Given the description of an element on the screen output the (x, y) to click on. 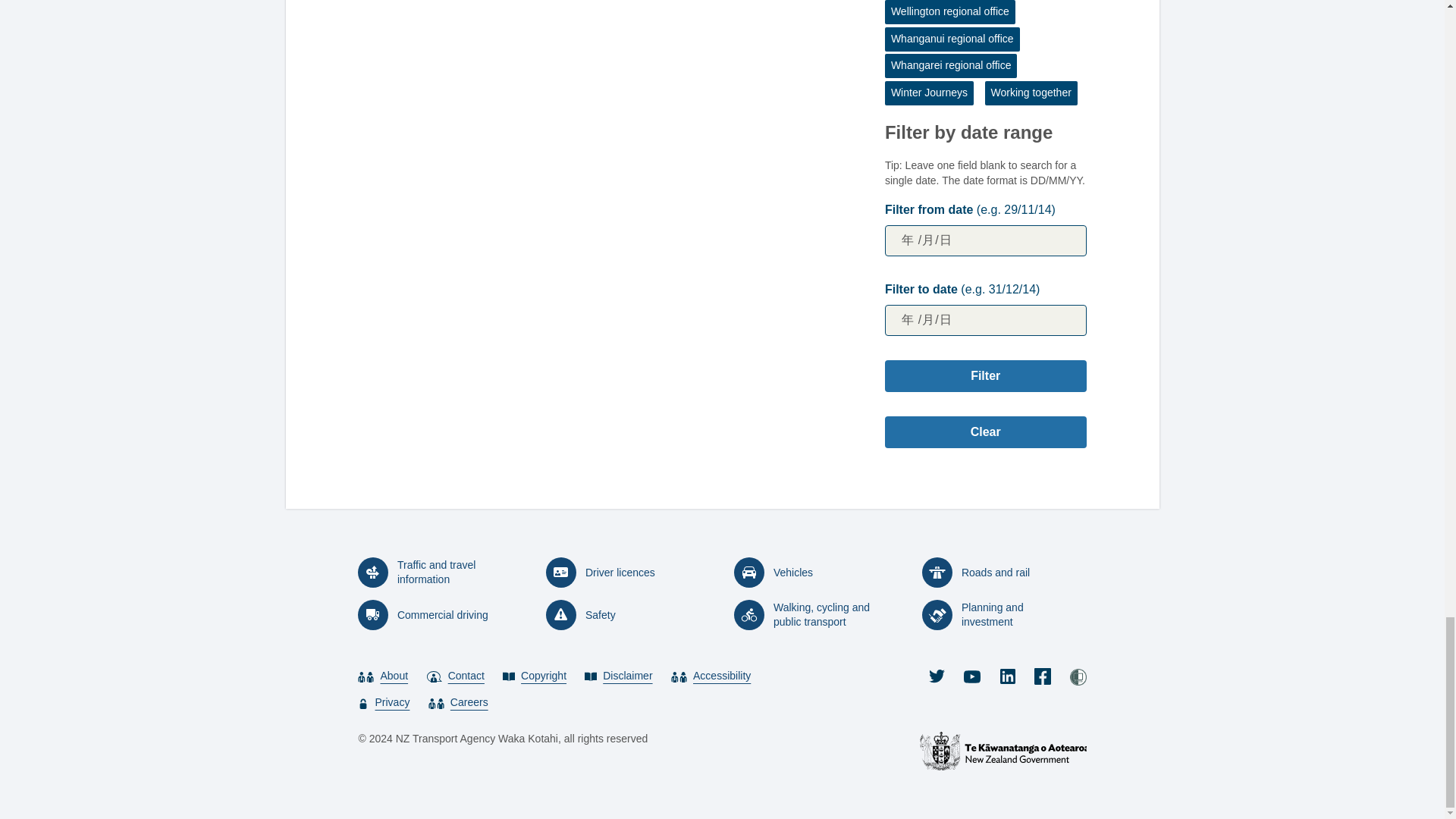
Clear (985, 431)
Filter (985, 376)
